Given the description of an element on the screen output the (x, y) to click on. 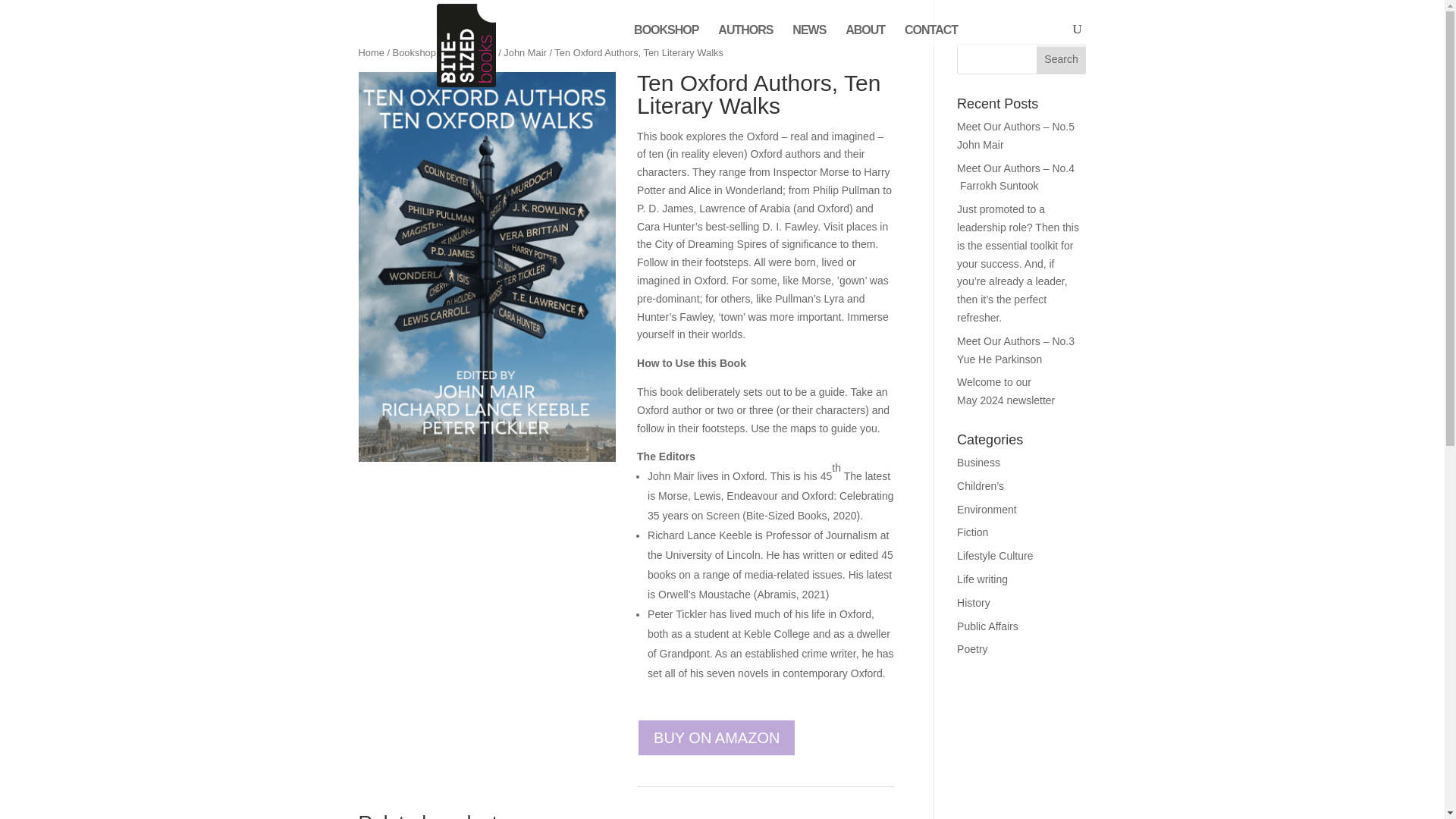
CONTACT (931, 35)
Business (978, 462)
Fiction (972, 532)
ABOUT (865, 35)
Life writing (981, 579)
Welcome to our May 2024 newsletter (1005, 390)
Lifestyle Culture (994, 555)
AUTHORS (745, 35)
Environment (986, 509)
Bookshop (414, 52)
